Given the description of an element on the screen output the (x, y) to click on. 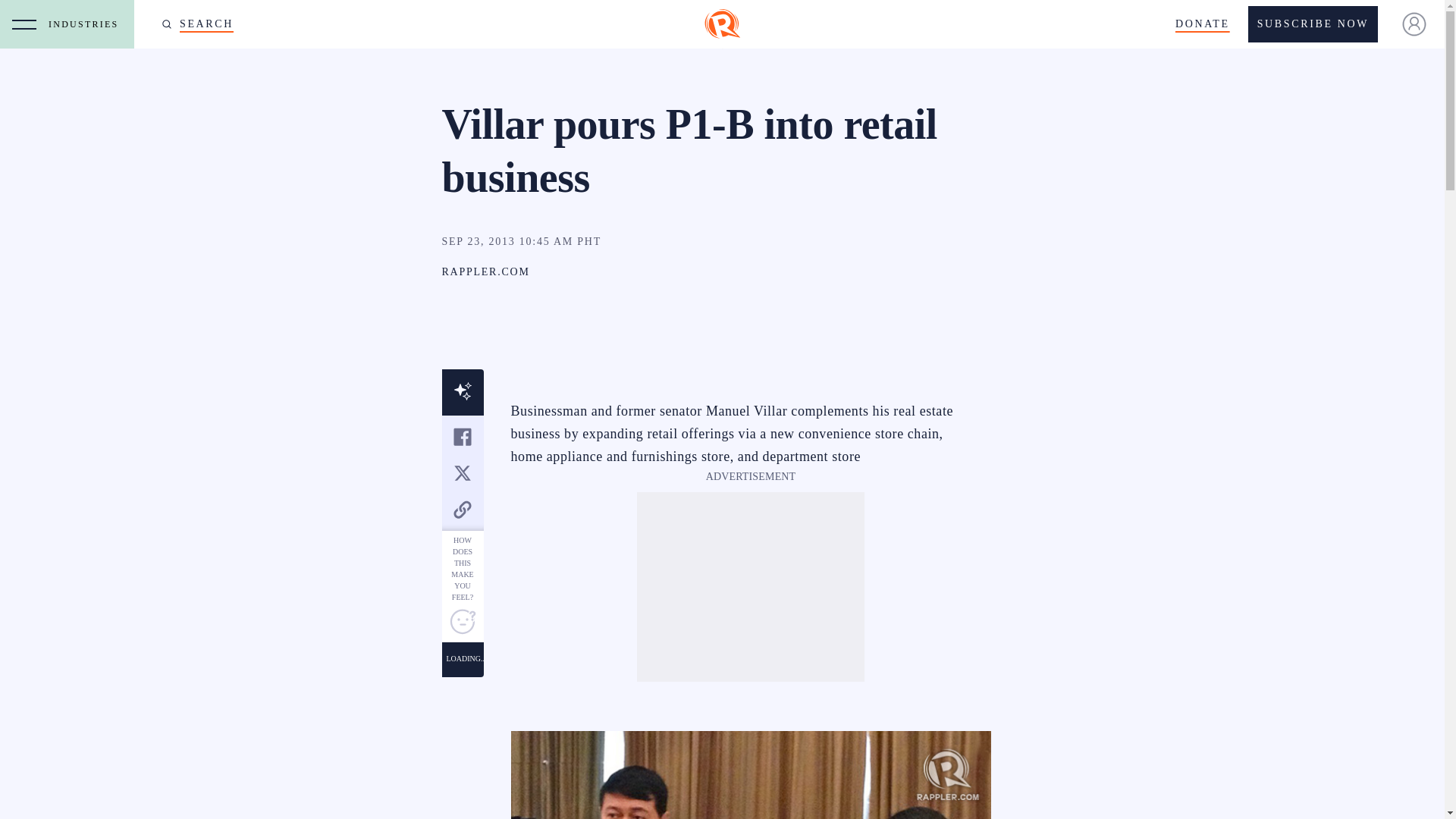
OPEN NAVIGATION (24, 24)
INDUSTRIES (87, 23)
